Given the description of an element on the screen output the (x, y) to click on. 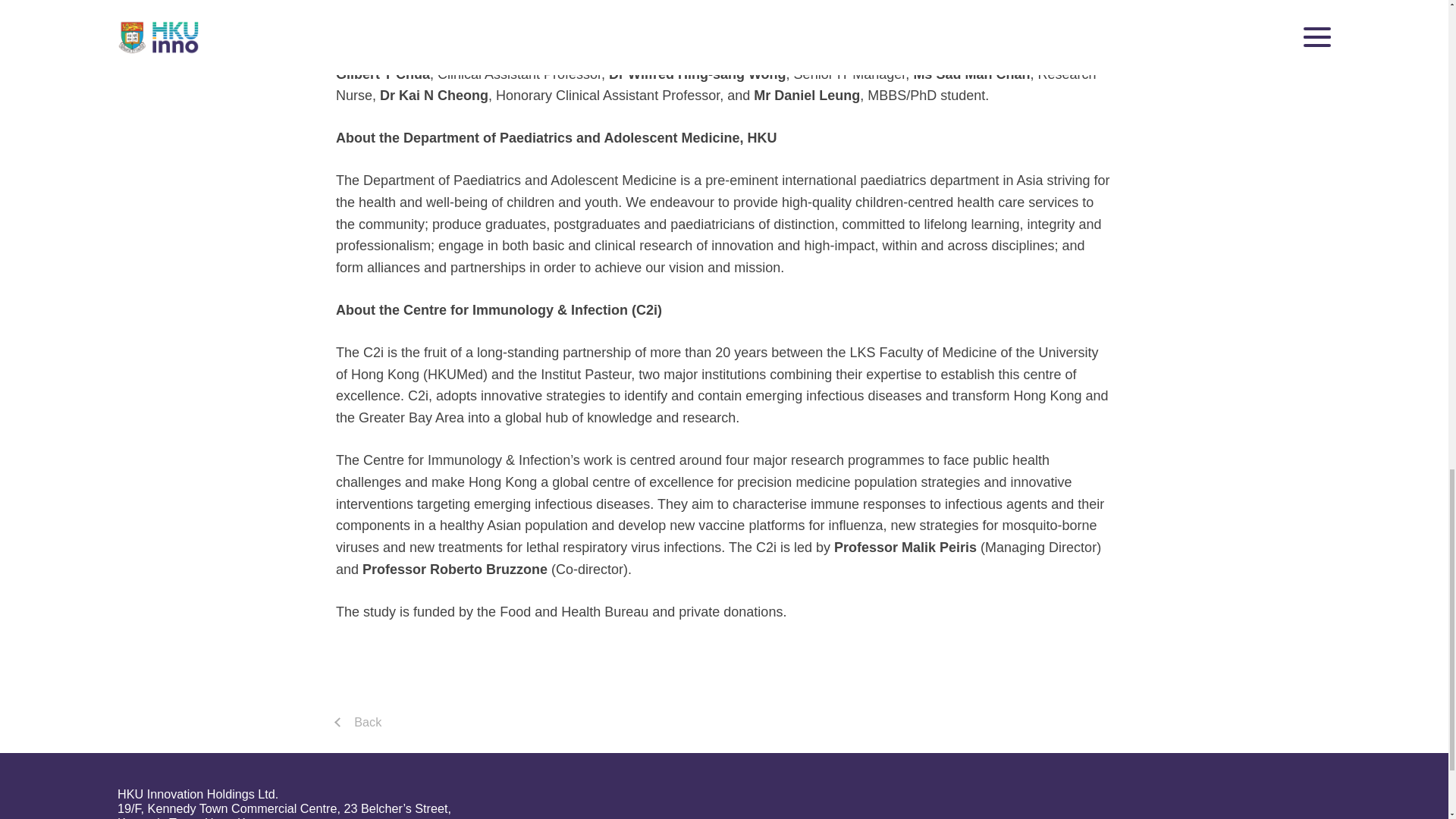
Back (367, 721)
